Given the description of an element on the screen output the (x, y) to click on. 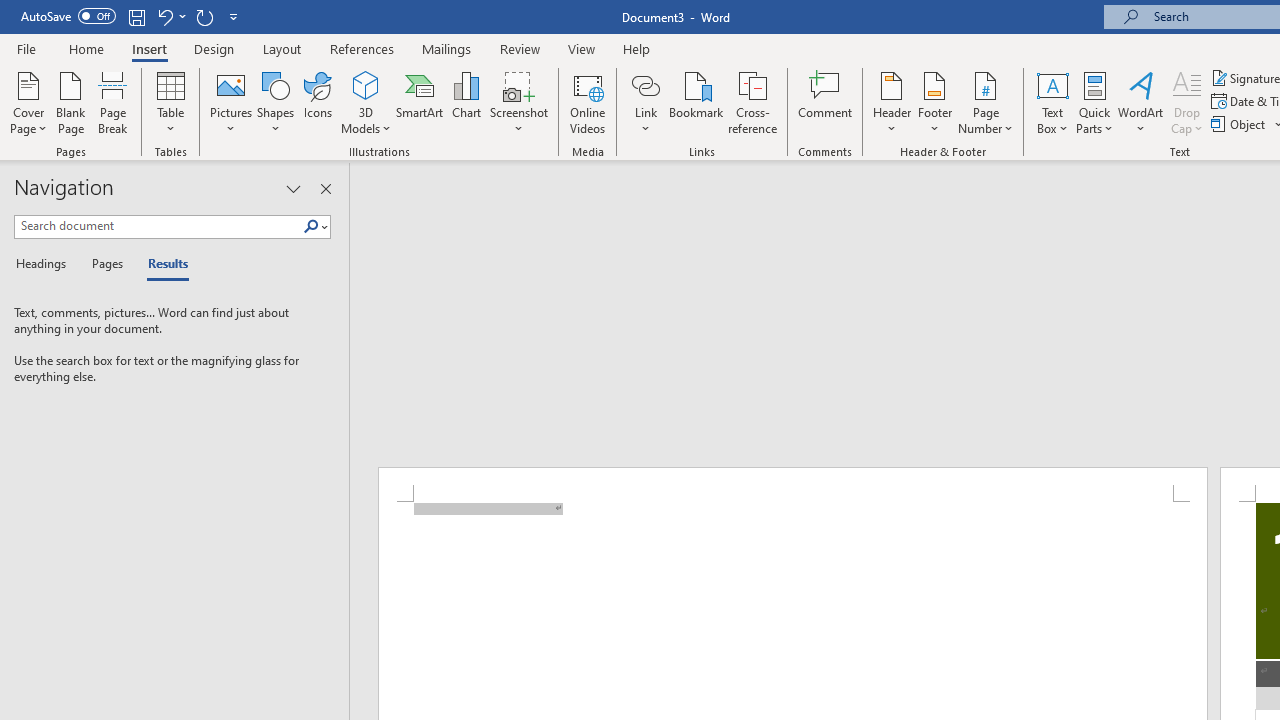
3D Models (366, 84)
Link (645, 84)
Link (645, 102)
Cross-reference... (752, 102)
Page Number (986, 102)
Chart... (466, 102)
Header -Section 1- (792, 485)
Undo New Page (164, 15)
